Given the description of an element on the screen output the (x, y) to click on. 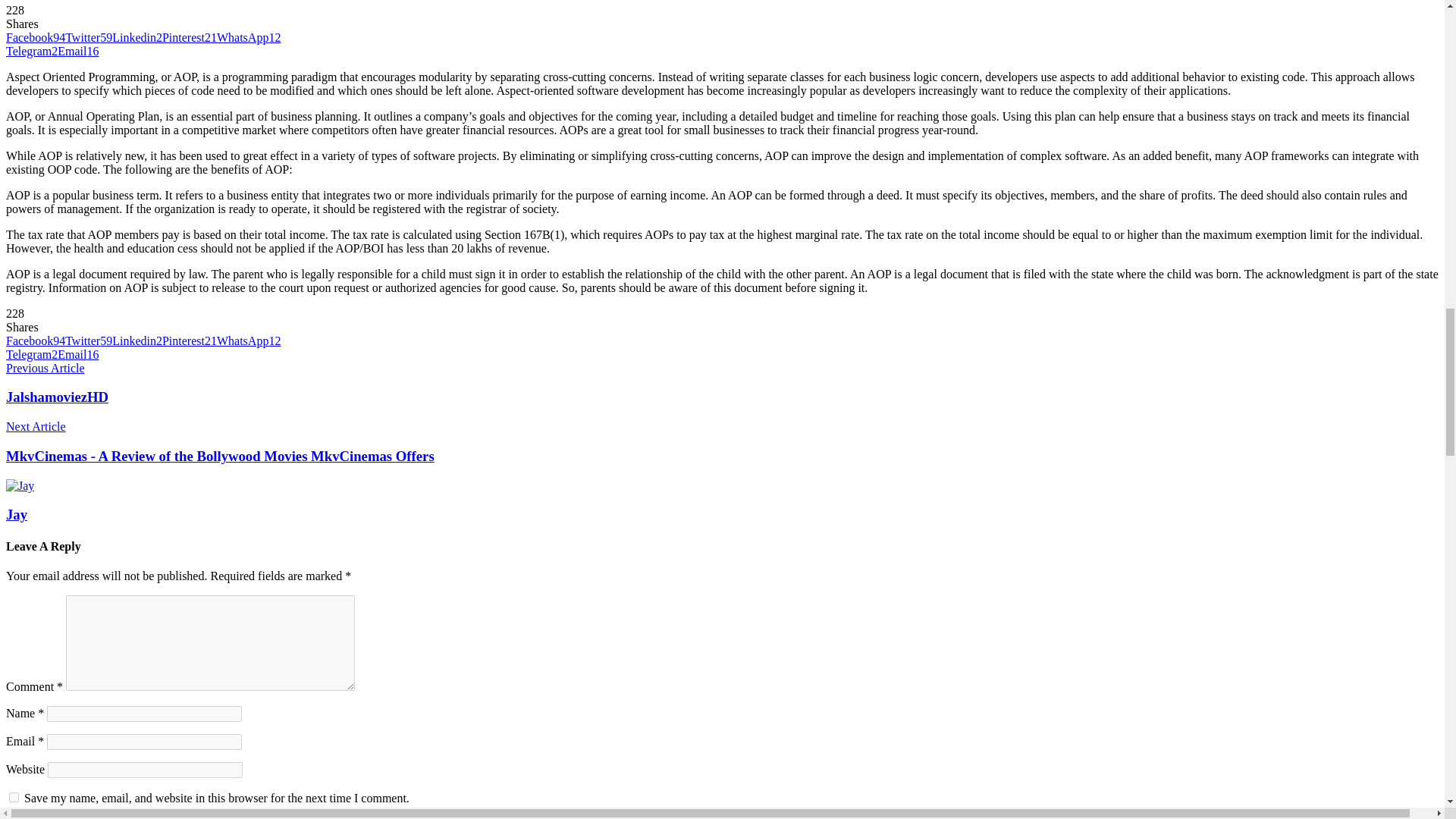
Twitter59 (88, 37)
Post Comment (44, 818)
yes (13, 797)
Email16 (78, 51)
Facebook94 (35, 37)
WhatsApp12 (248, 37)
Telegram2 (31, 51)
Linkedin2 (136, 37)
Pinterest21 (188, 37)
